Given the description of an element on the screen output the (x, y) to click on. 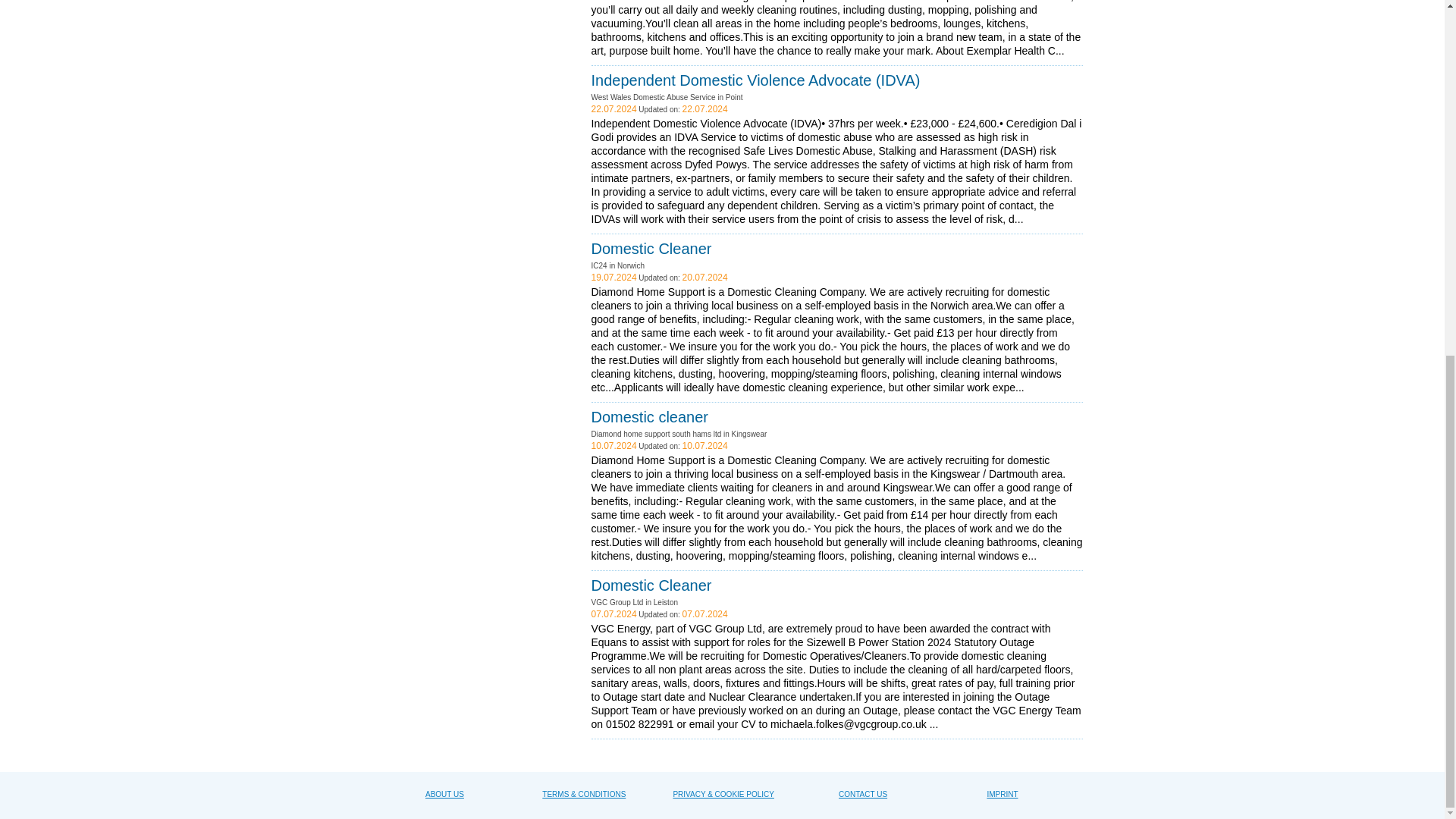
Domestic Cleaner (651, 248)
ABOUT US (444, 794)
CONTACT US (862, 794)
Domestic cleaner (650, 416)
IMPRINT (1002, 794)
Domestic Cleaner (651, 585)
